Given the description of an element on the screen output the (x, y) to click on. 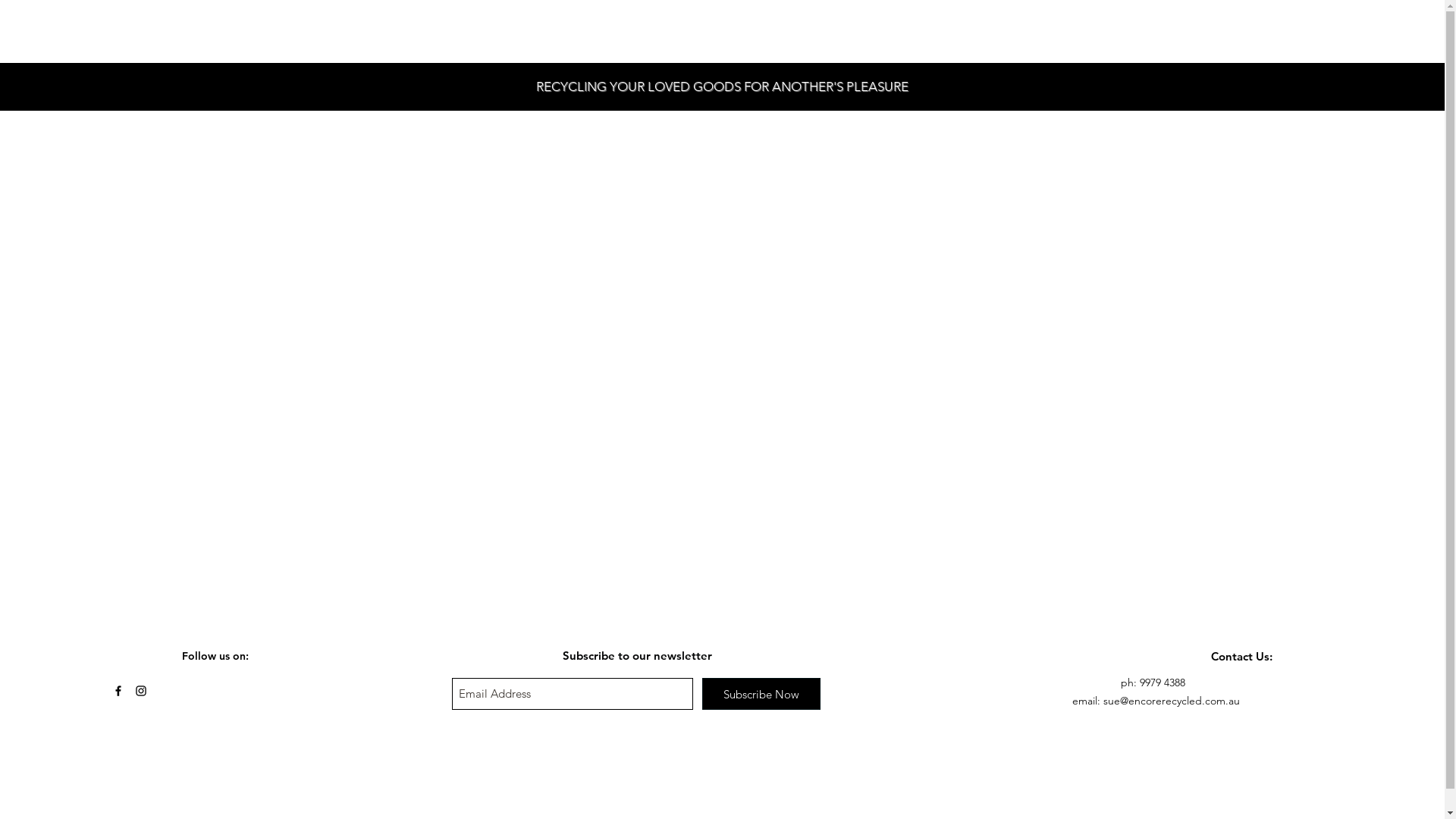
sue@encorerecycled.com.au Element type: text (1171, 700)
Subscribe Now Element type: text (761, 693)
